Given the description of an element on the screen output the (x, y) to click on. 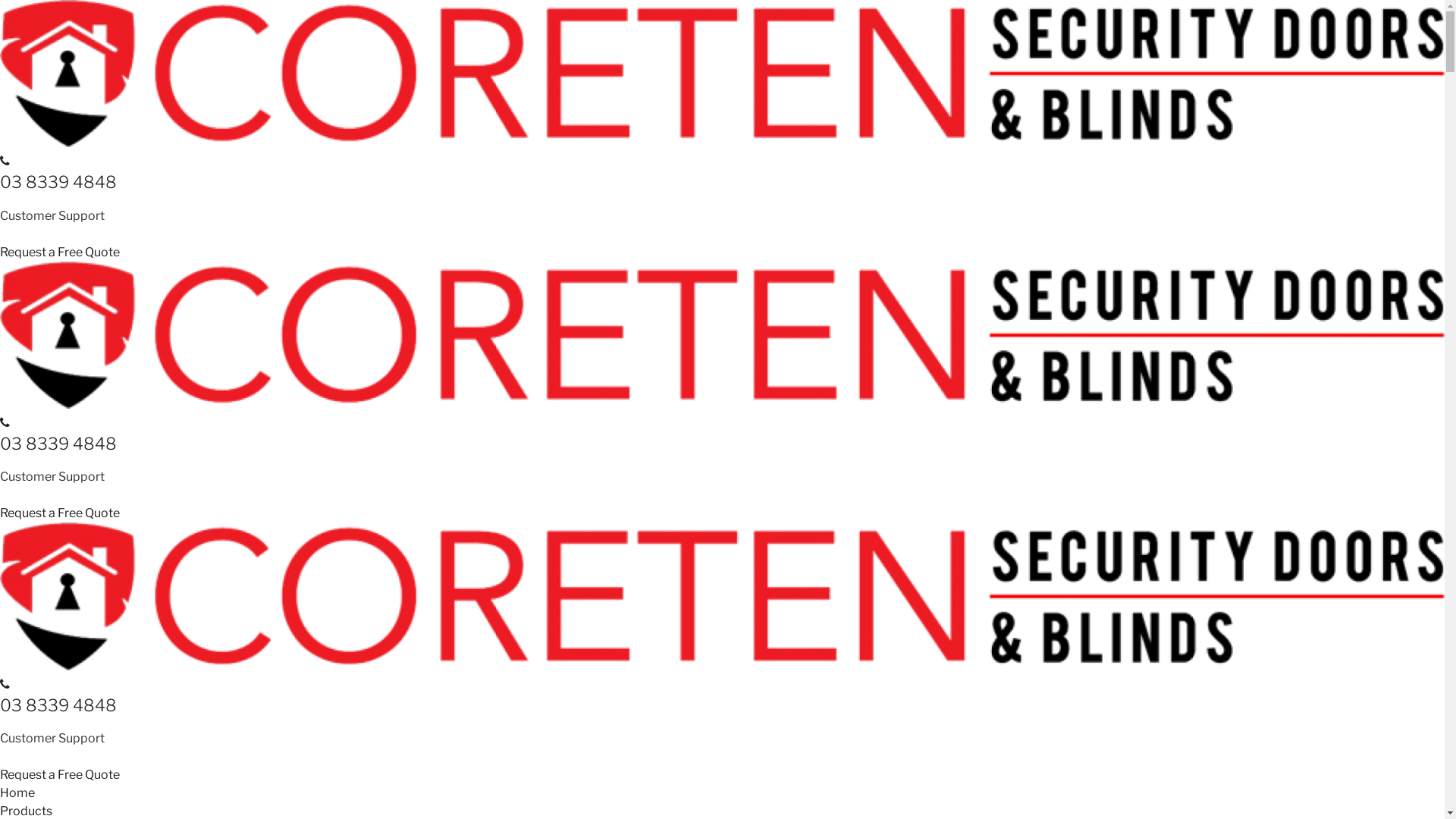
Request a Free Quote Element type: text (59, 251)
03 8339 4848 Element type: text (58, 705)
Request a Free Quote Element type: text (59, 774)
Products Element type: text (26, 810)
Request a Free Quote Element type: text (59, 512)
03 8339 4848 Element type: text (58, 181)
03 8339 4848 Element type: text (58, 443)
Home Element type: text (17, 792)
